Given the description of an element on the screen output the (x, y) to click on. 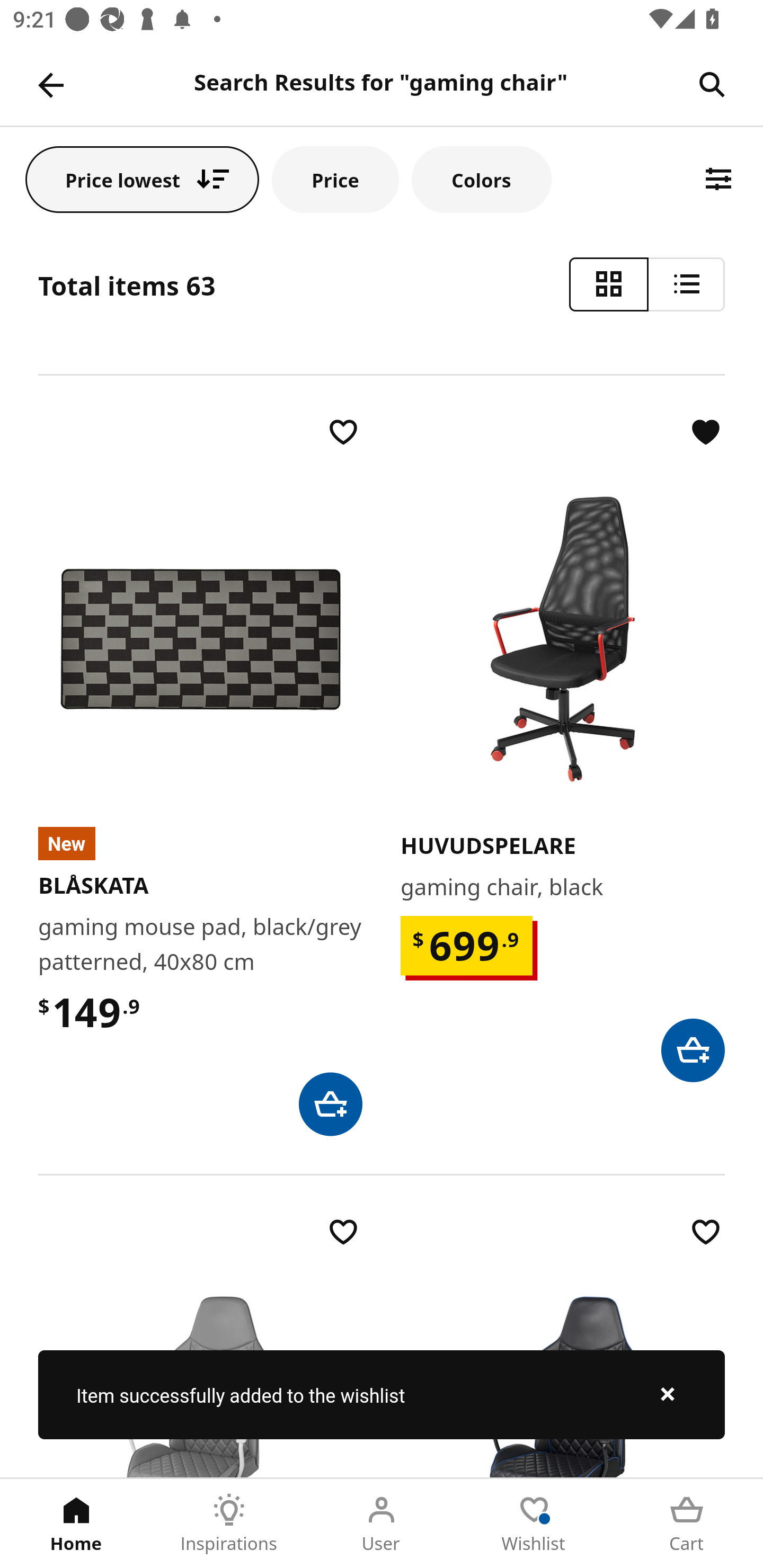
Price lowest (142, 179)
Price (335, 179)
Colors (481, 179)
Item successfully added to the wishlist (381, 1394)
Home
Tab 1 of 5 (76, 1522)
Inspirations
Tab 2 of 5 (228, 1522)
User
Tab 3 of 5 (381, 1522)
Wishlist
Tab 4 of 5 (533, 1522)
Cart
Tab 5 of 5 (686, 1522)
